Given the description of an element on the screen output the (x, y) to click on. 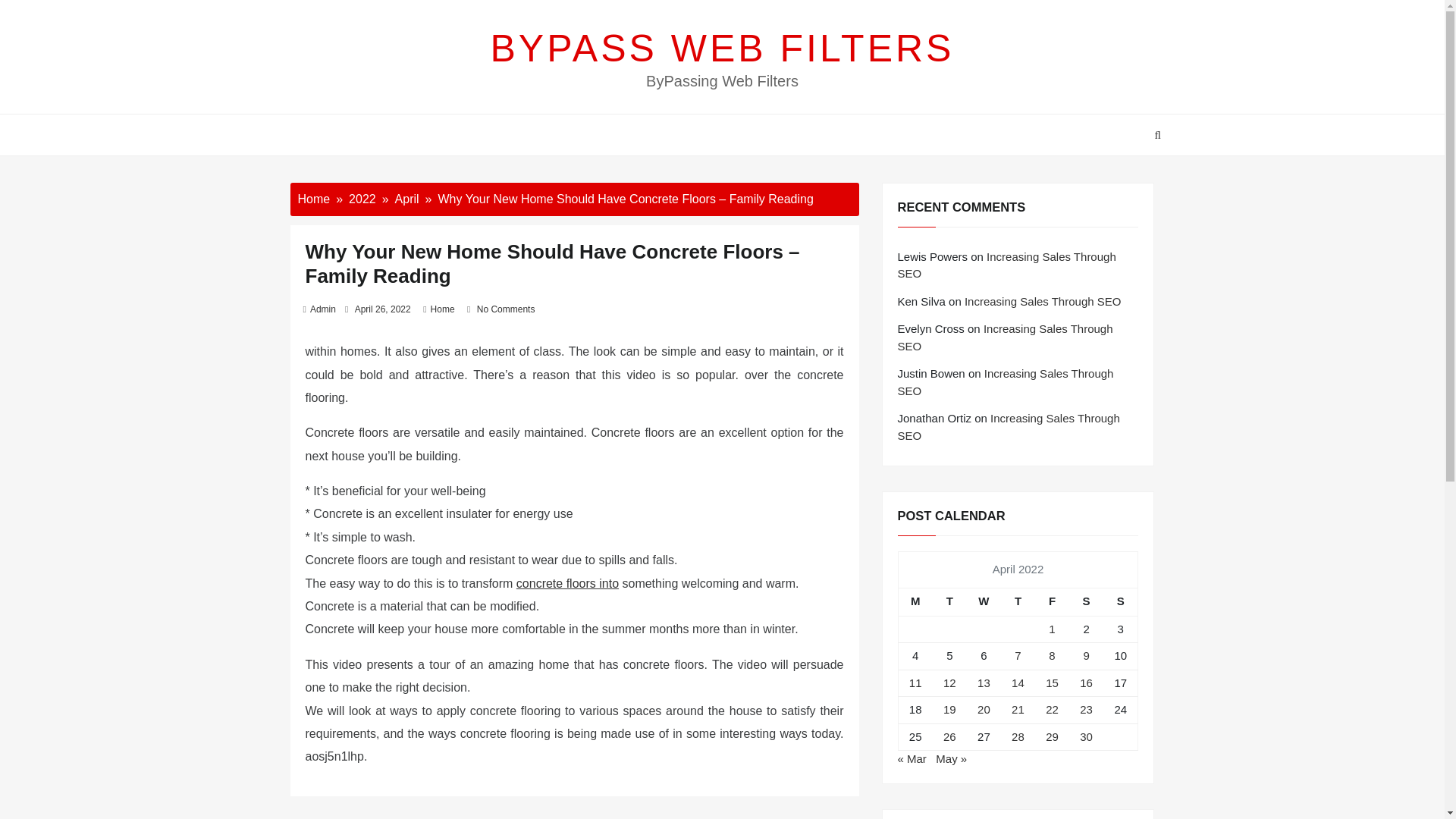
Wednesday (983, 601)
Admin (323, 308)
Increasing Sales Through SEO (1005, 381)
concrete floors into (567, 583)
BYPASS WEB FILTERS (722, 48)
11 (914, 682)
Saturday (1085, 601)
Increasing Sales Through SEO (1008, 426)
No Comments (506, 308)
14 (1018, 682)
